Given the description of an element on the screen output the (x, y) to click on. 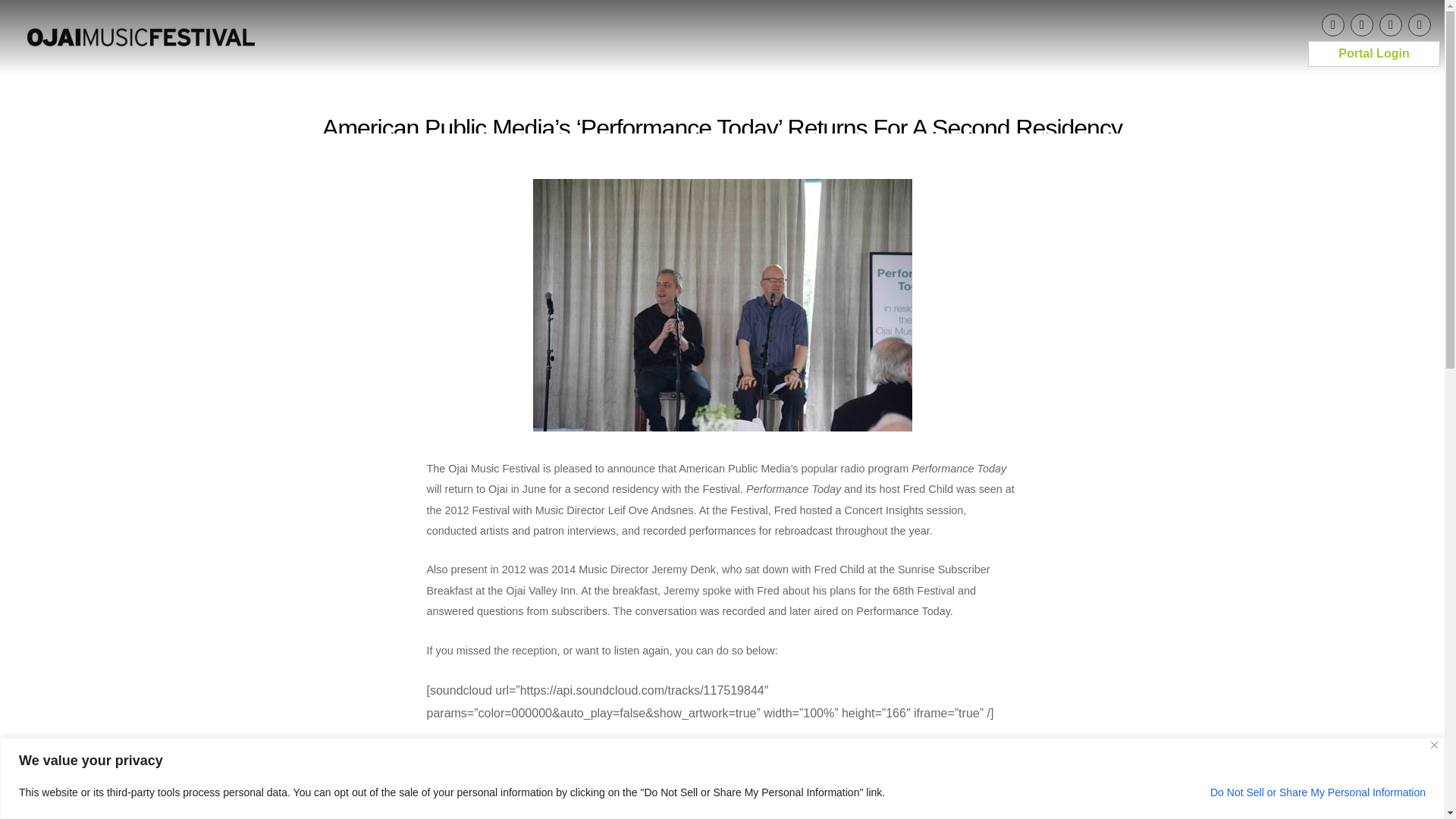
Do Not Sell or Share My Personal Information (1317, 791)
